Given the description of an element on the screen output the (x, y) to click on. 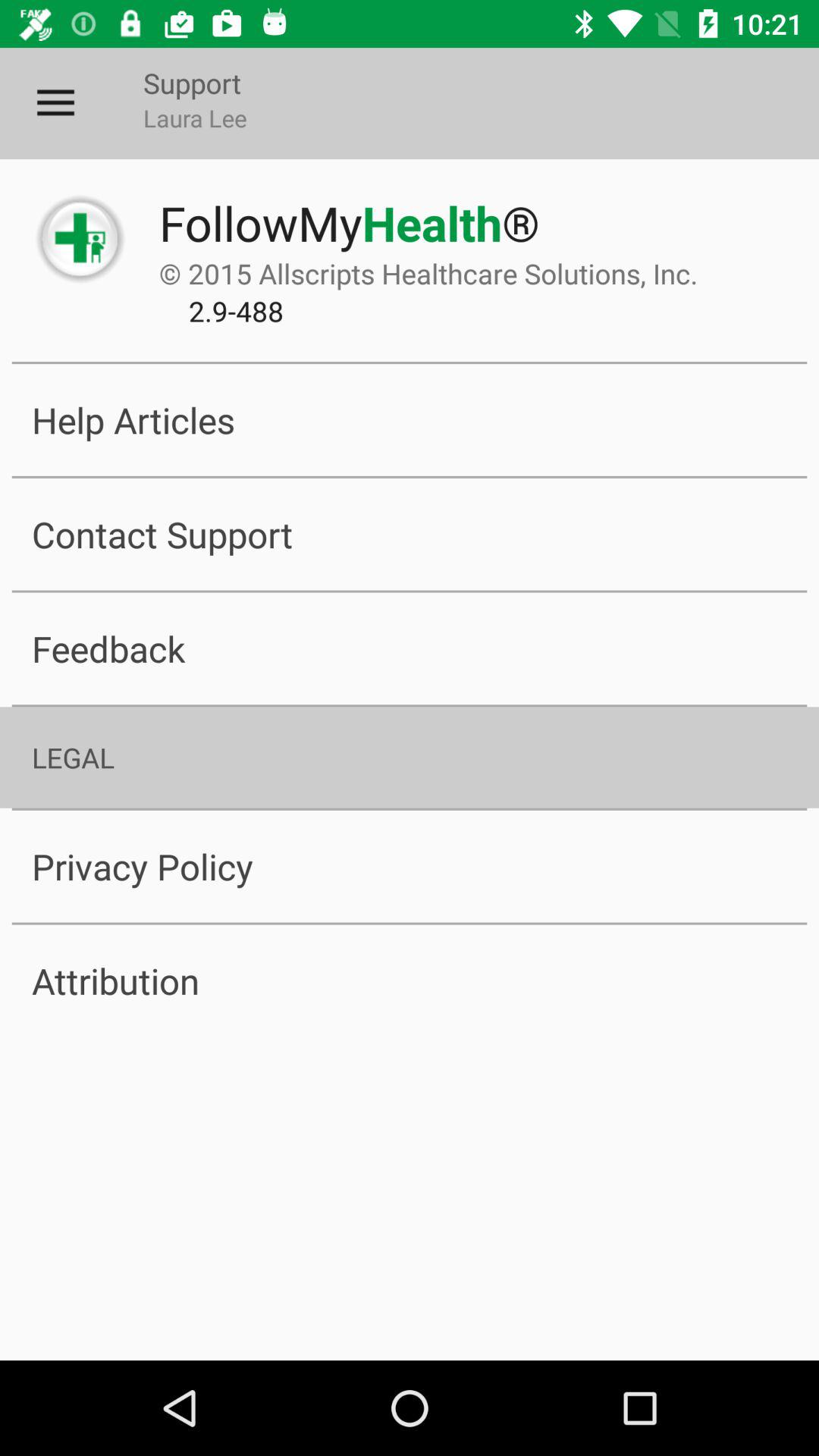
turn on item below privacy policy (409, 980)
